Given the description of an element on the screen output the (x, y) to click on. 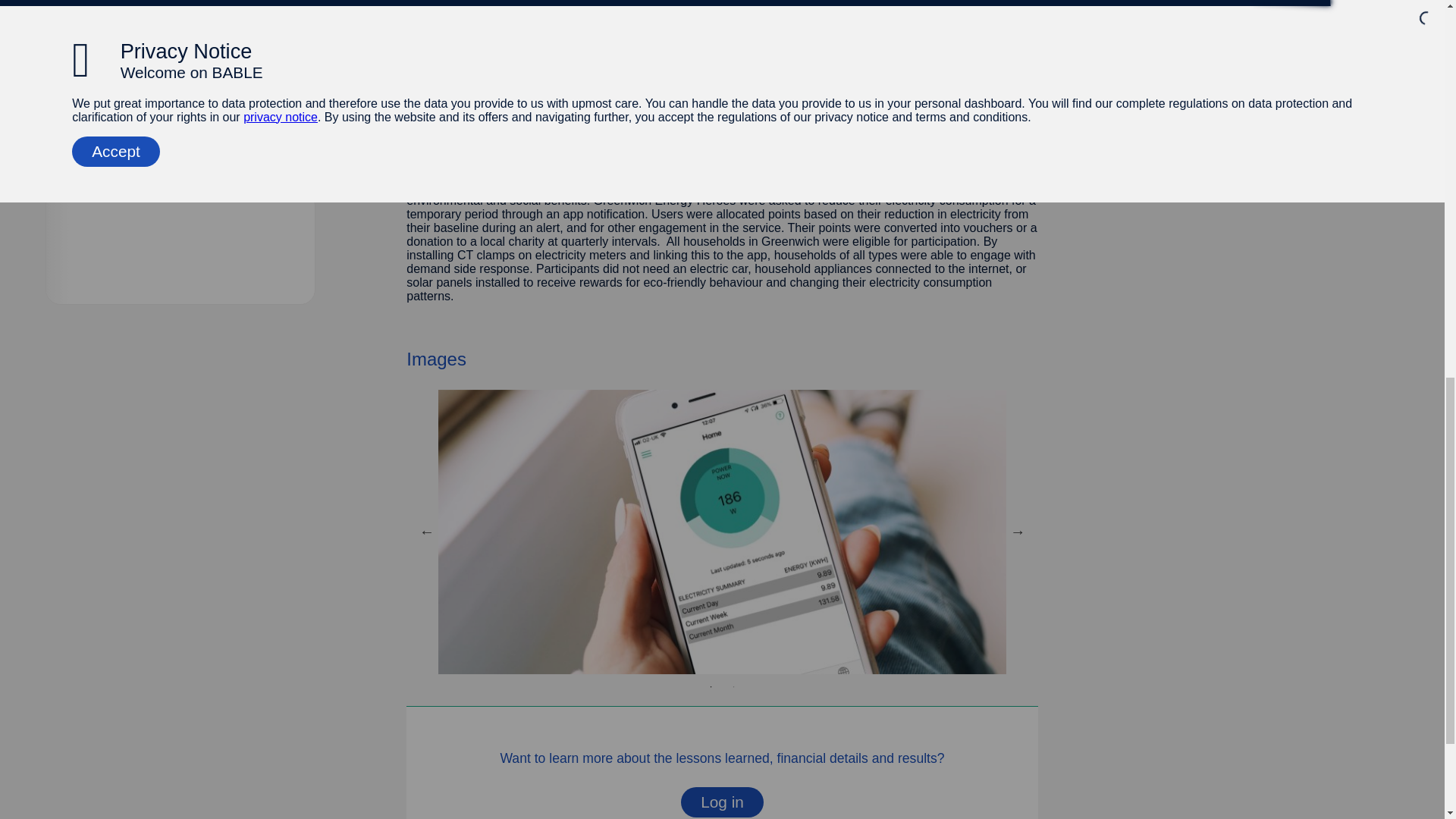
Previous (426, 531)
Next (1017, 531)
1 (711, 686)
